Given the description of an element on the screen output the (x, y) to click on. 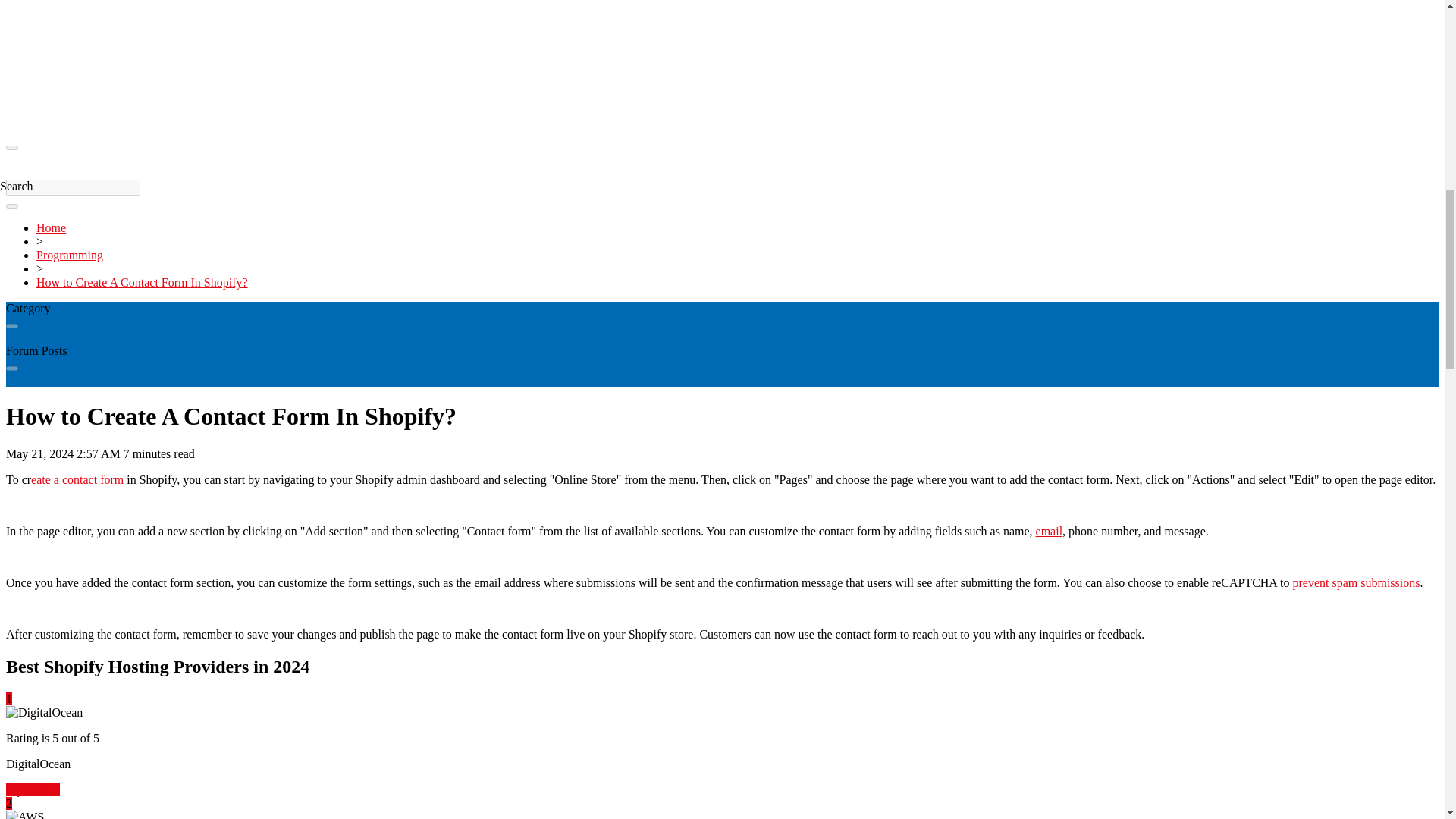
Try It Now (32, 789)
How to Create A Contact Form In Shopify? (141, 282)
eate a contact form (76, 479)
email (1048, 530)
Programming (69, 254)
Home (50, 227)
prevent spam submissions (1355, 582)
